Given the description of an element on the screen output the (x, y) to click on. 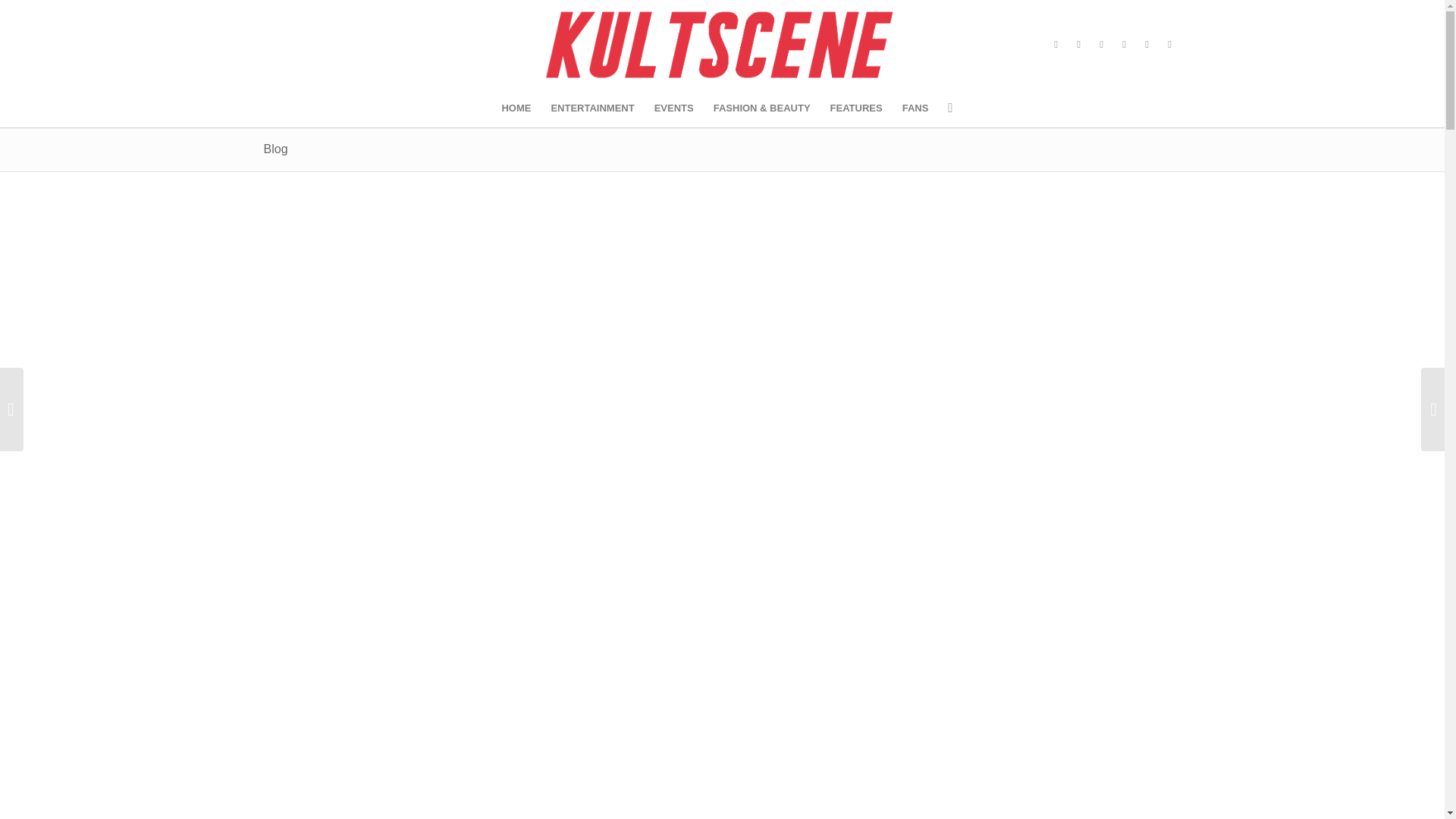
Facebook (1056, 44)
FEATURES (856, 108)
Tumblr (1101, 44)
Mail (1146, 44)
Blog (275, 148)
Twitter (1078, 44)
Youtube (1124, 44)
ENTERTAINMENT (591, 108)
Permanent Link: Blog (275, 148)
FANS (915, 108)
Rss (1169, 44)
EVENTS (674, 108)
HOME (516, 108)
